Given the description of an element on the screen output the (x, y) to click on. 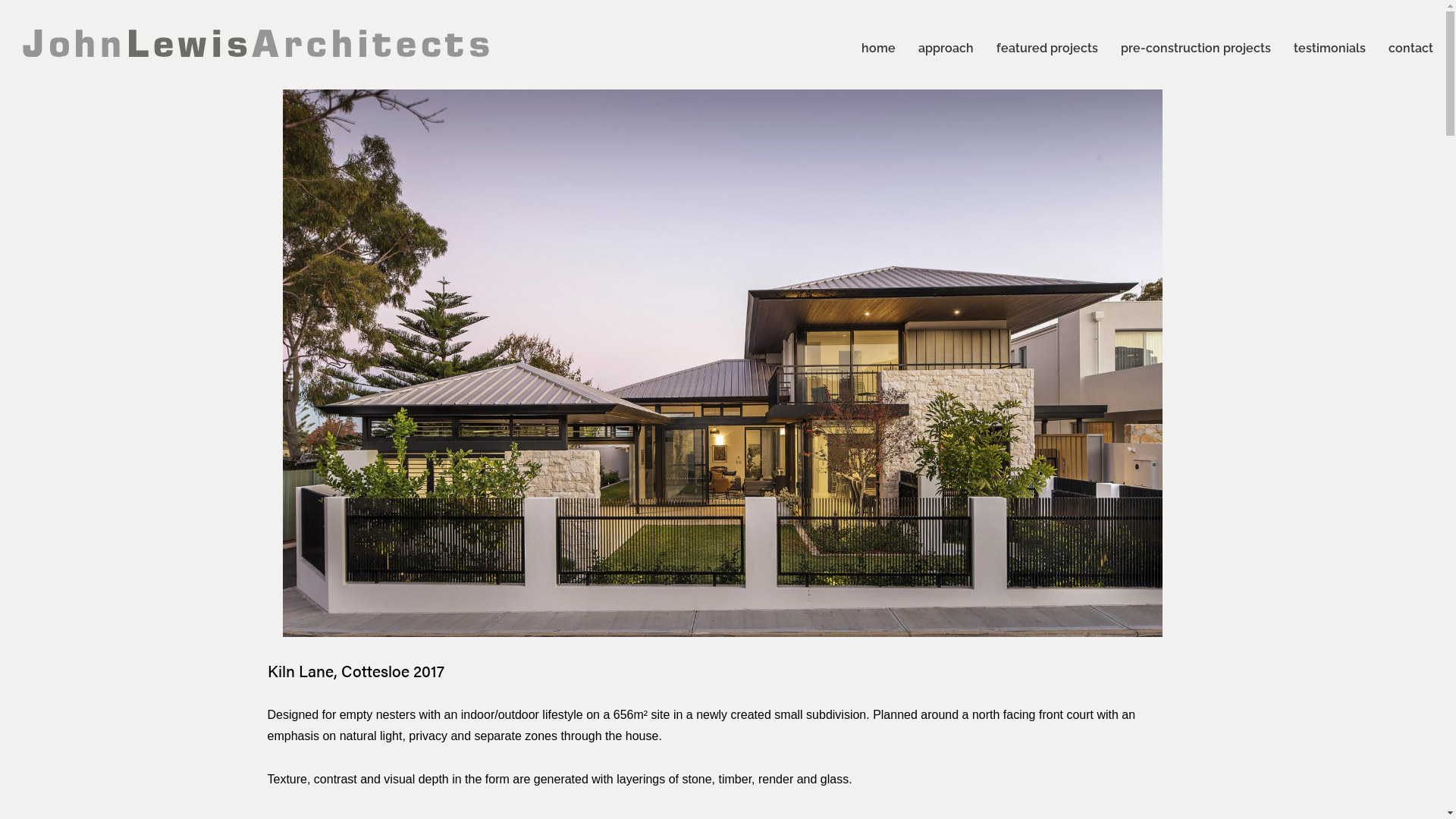
home Element type: text (878, 45)
approach Element type: text (945, 45)
testimonials Element type: text (1329, 45)
contact Element type: text (1410, 45)
pre-construction projects Element type: text (1195, 45)
featured projects Element type: text (1047, 45)
